Given the description of an element on the screen output the (x, y) to click on. 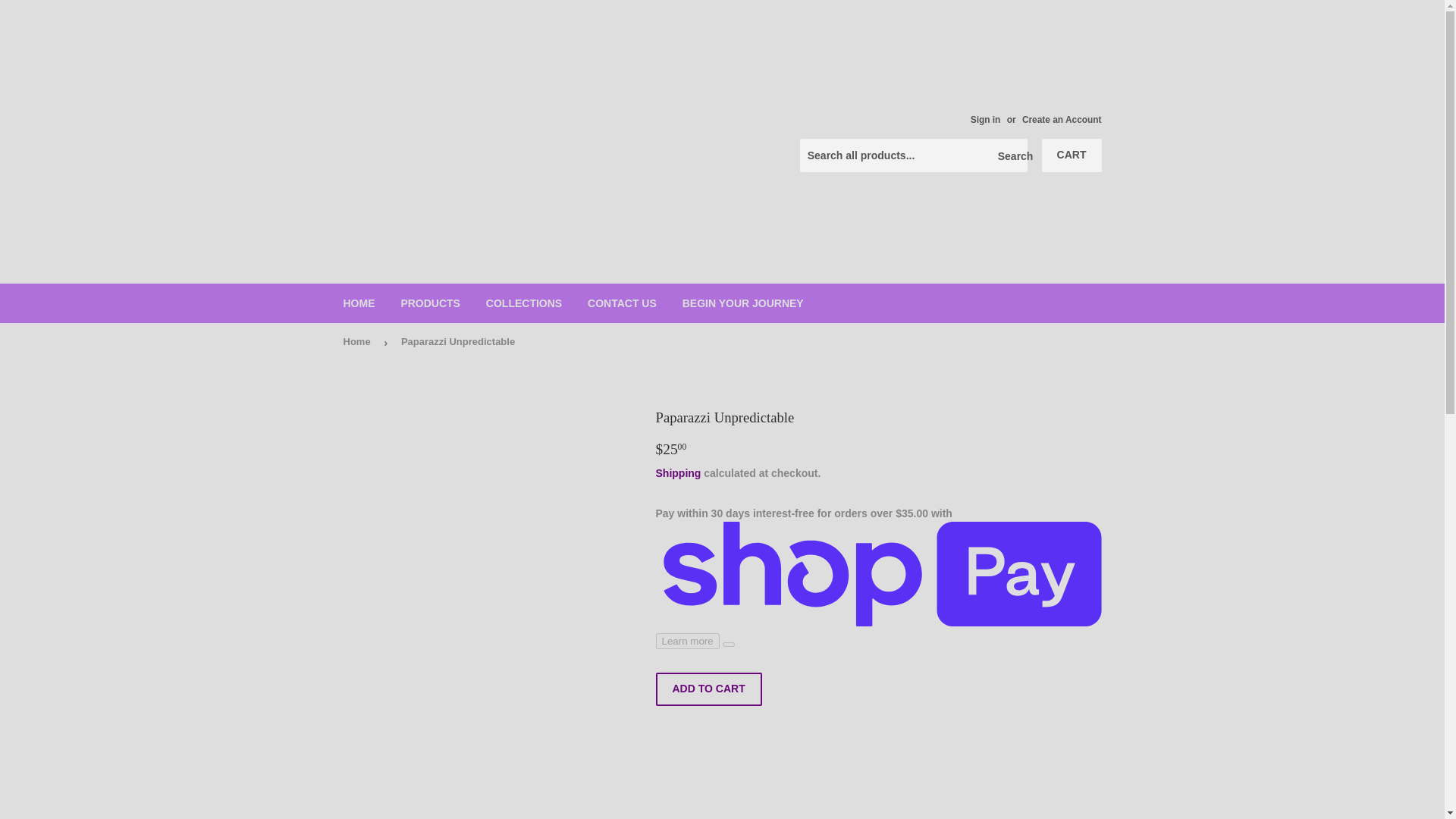
ADD TO CART (708, 688)
Create an Account (1062, 119)
Search (1009, 155)
HOME (359, 302)
CONTACT US (622, 302)
BEGIN YOUR JOURNEY (743, 302)
CART (1072, 154)
PRODUCTS (429, 302)
Sign in (986, 119)
COLLECTIONS (523, 302)
Shipping (677, 472)
